Given the description of an element on the screen output the (x, y) to click on. 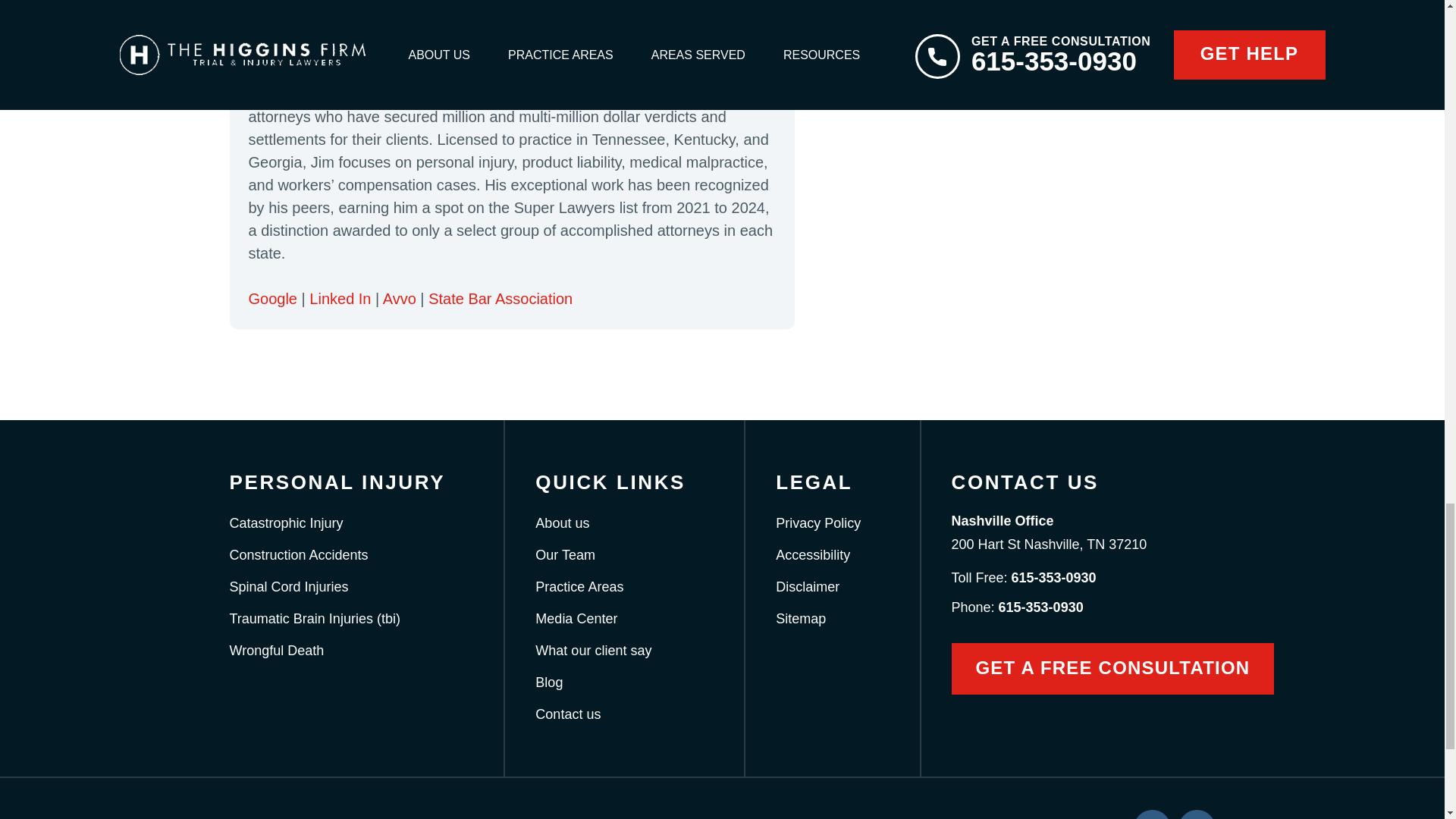
Google (273, 298)
Spinal Cord Injuries (287, 586)
Our Team (565, 554)
About us (562, 522)
State Bar Association (500, 298)
Catastrophic Injury (285, 522)
Wrongful Death (275, 650)
Practice Areas (579, 586)
Linked In (339, 298)
Construction Accidents (298, 554)
